Given the description of an element on the screen output the (x, y) to click on. 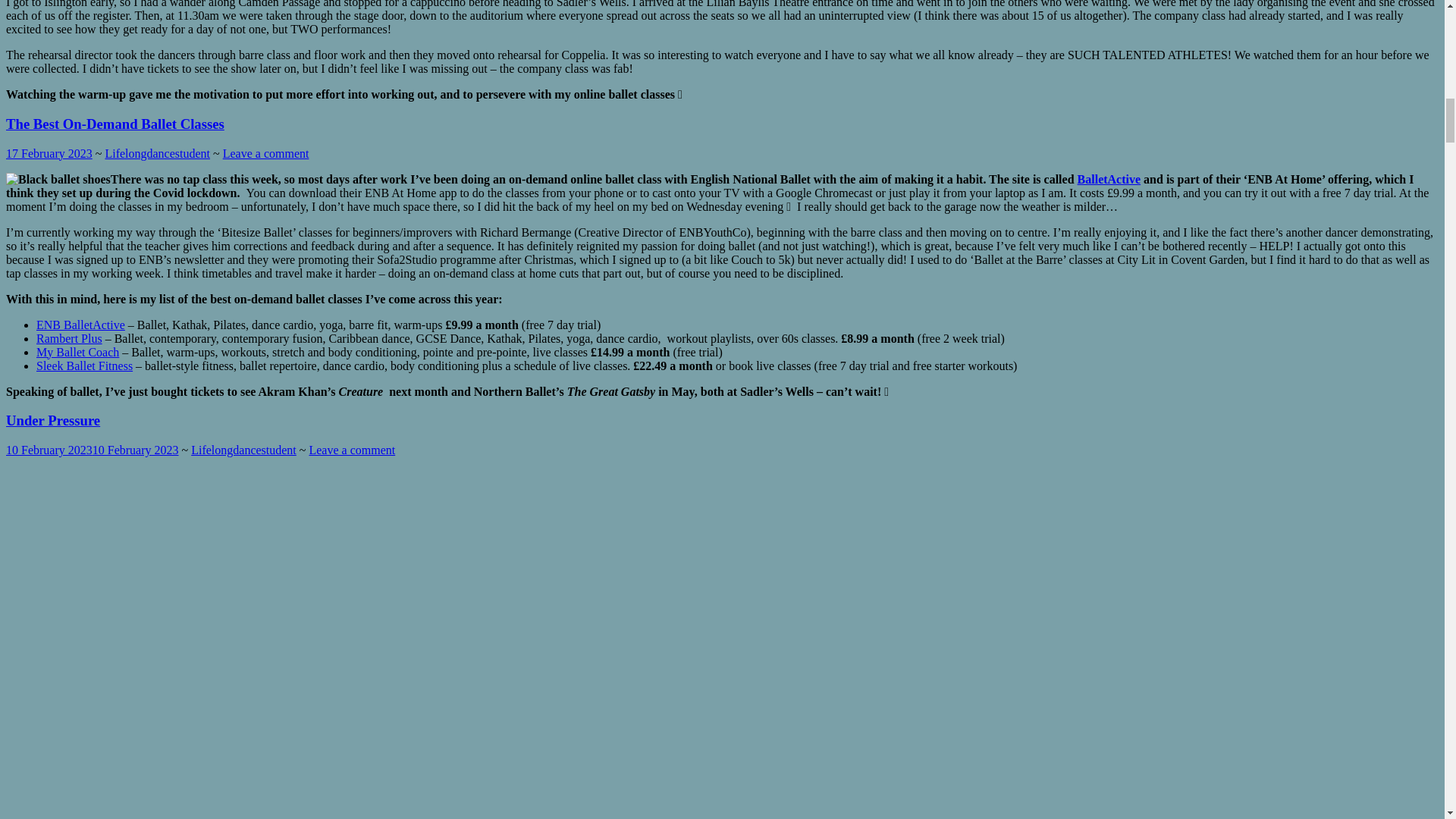
ENB BalletActive (80, 324)
Leave a comment (265, 153)
The Best On-Demand Ballet Classes (114, 123)
17 February 2023 (49, 153)
Lifelongdancestudent (156, 153)
BalletActive (1109, 178)
